Given the description of an element on the screen output the (x, y) to click on. 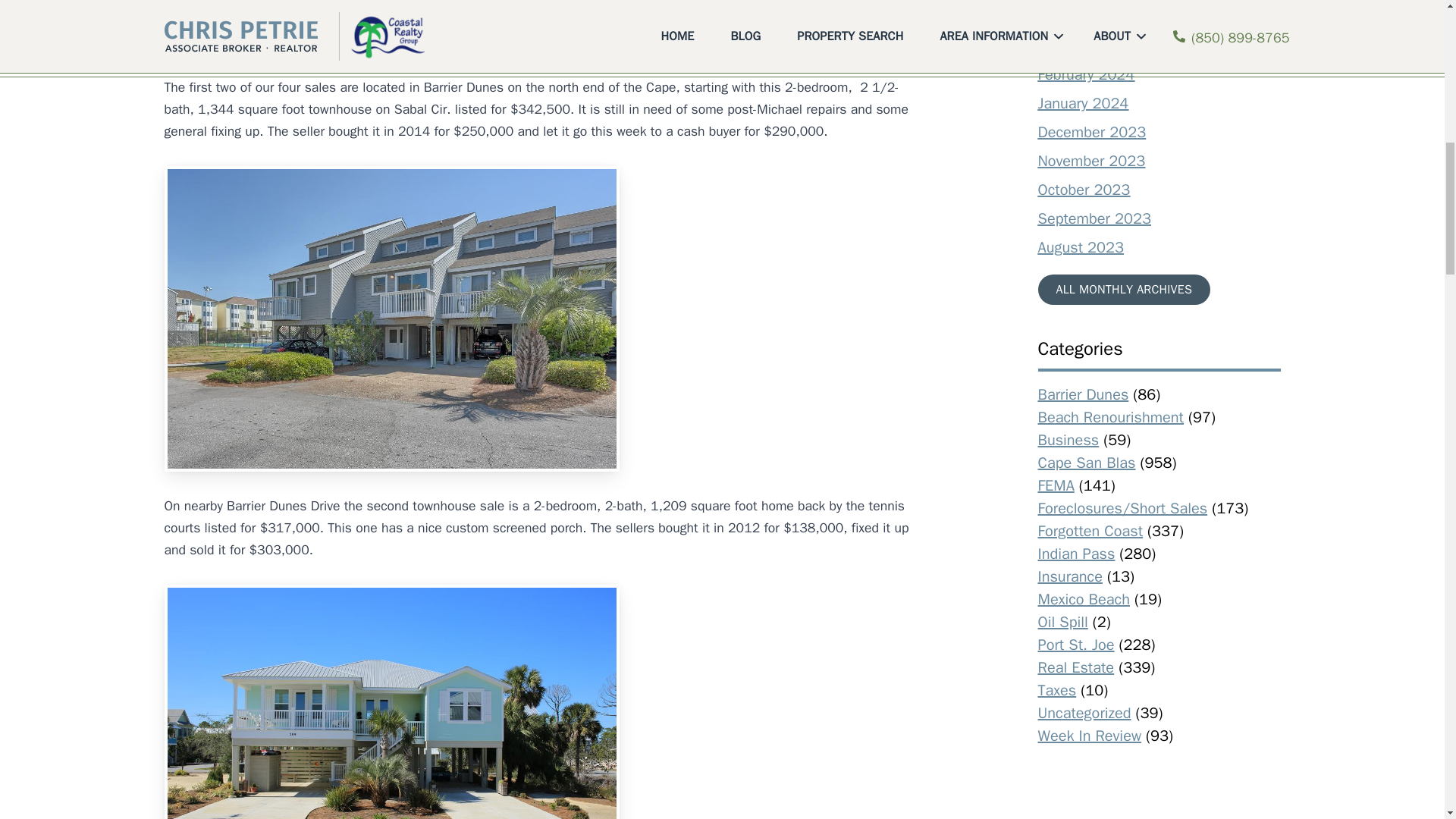
February 2024 (1085, 74)
December 2023 (1090, 131)
April 2024 (1071, 16)
January 2024 (1082, 103)
March 2024 (1077, 45)
